Given the description of an element on the screen output the (x, y) to click on. 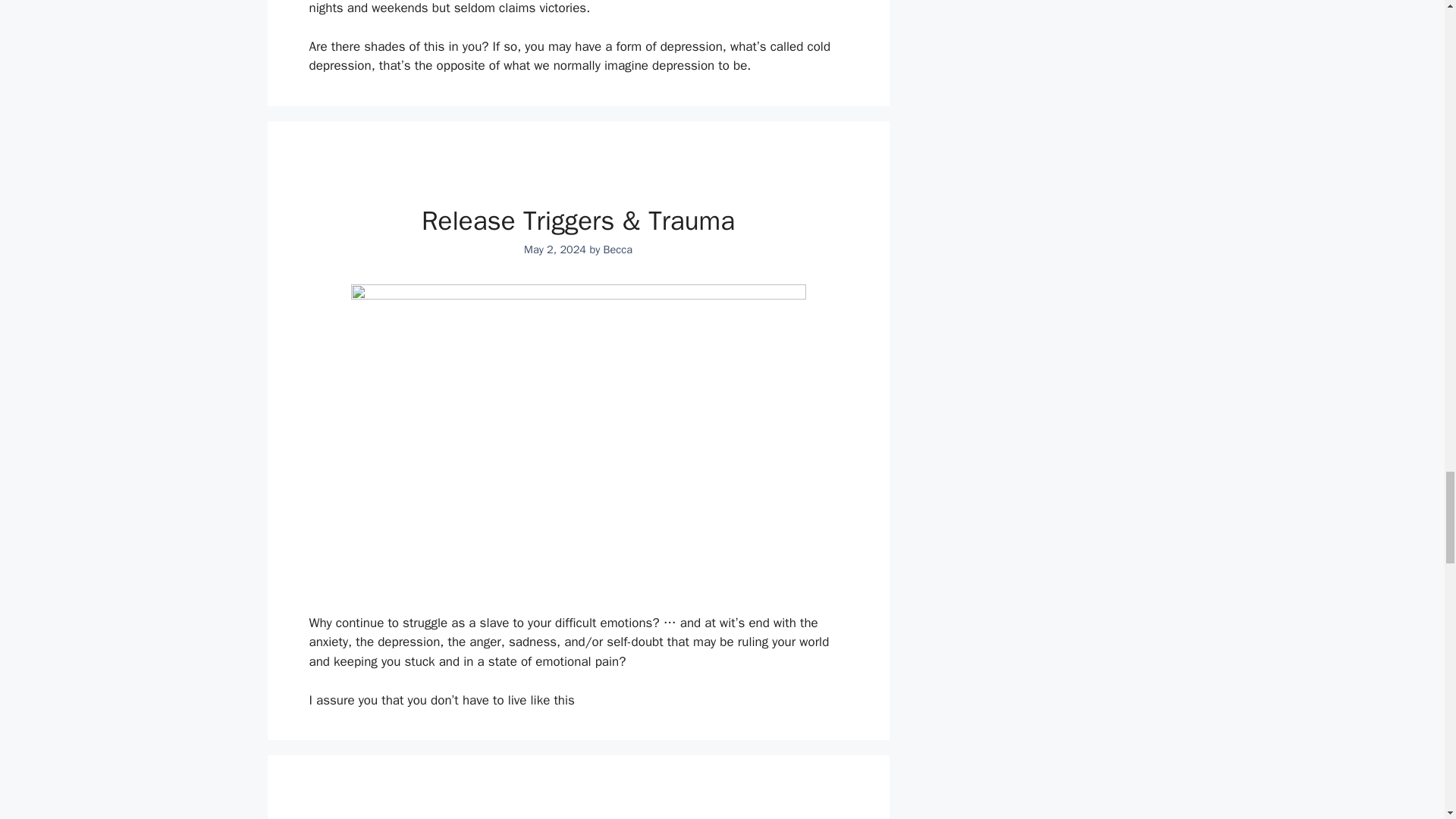
View all posts by Becca (617, 249)
